Given the description of an element on the screen output the (x, y) to click on. 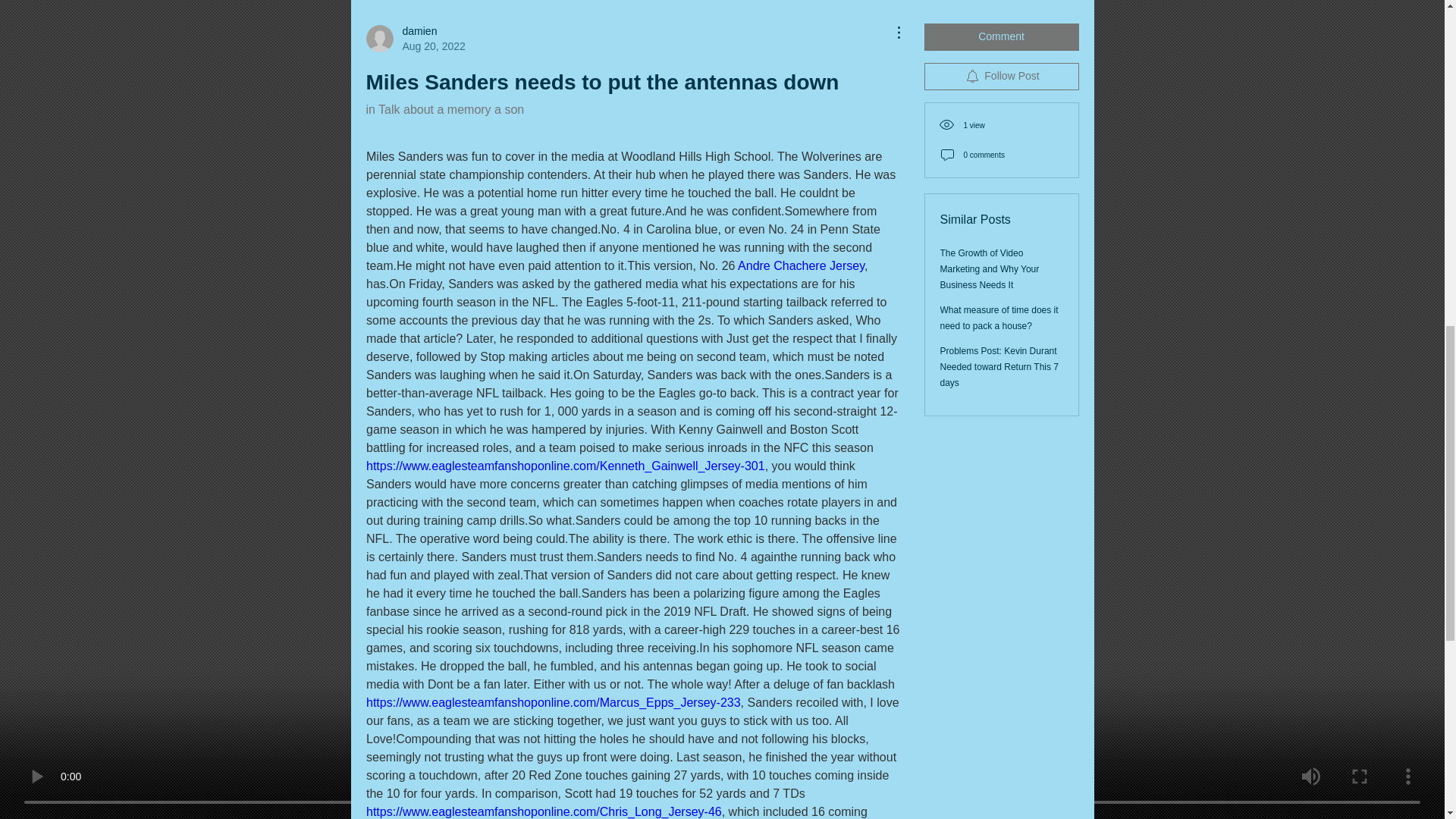
The Growth of Video Marketing and Why Your Business Needs It (989, 269)
in Talk about a memory a son (444, 109)
Follow Post (1000, 76)
Andre Chachere Jersey (801, 265)
What measure of time does it need to pack a house? (999, 317)
Problems Post: Kevin Durant Needed toward Return This 7 days (414, 38)
Comment (999, 366)
